Given the description of an element on the screen output the (x, y) to click on. 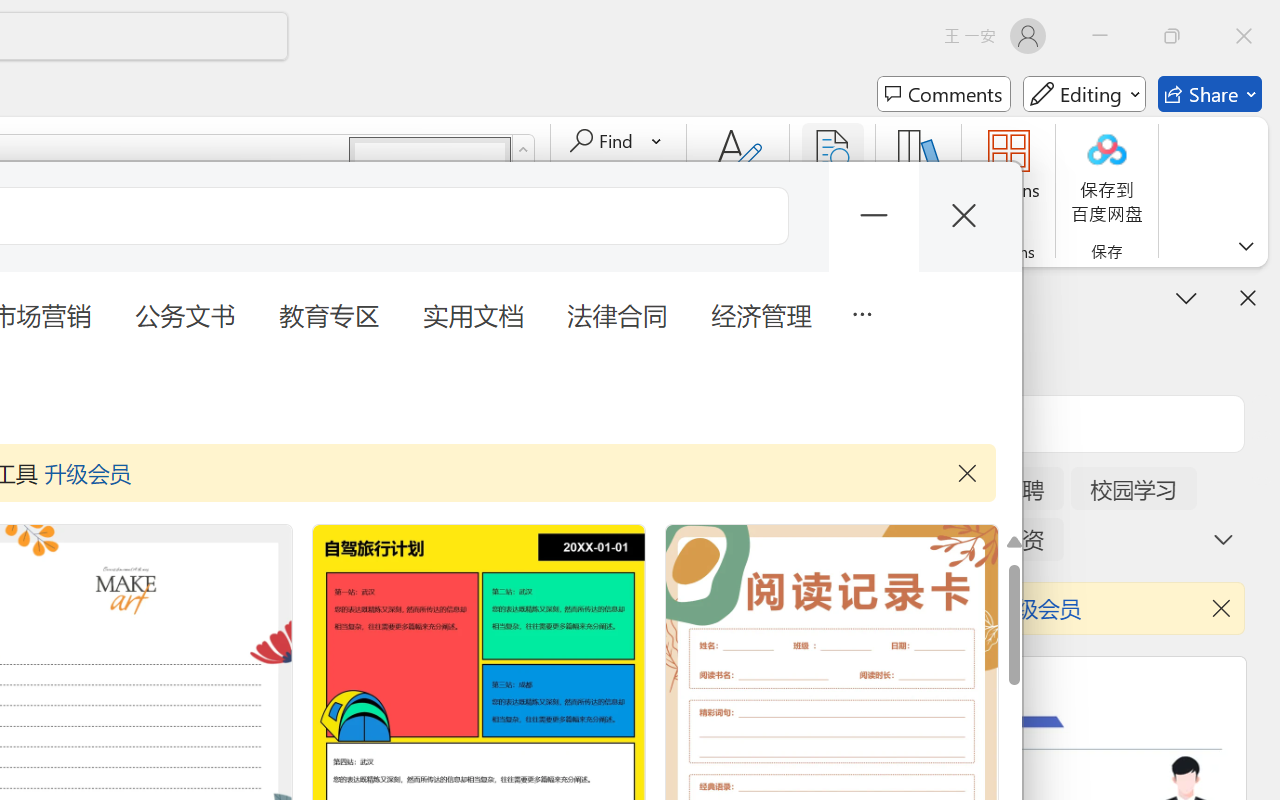
Comments (943, 94)
5 more tabs (861, 312)
Ribbon Display Options (1246, 245)
Find (604, 141)
Class: NetUIImage (523, 150)
